Given the description of an element on the screen output the (x, y) to click on. 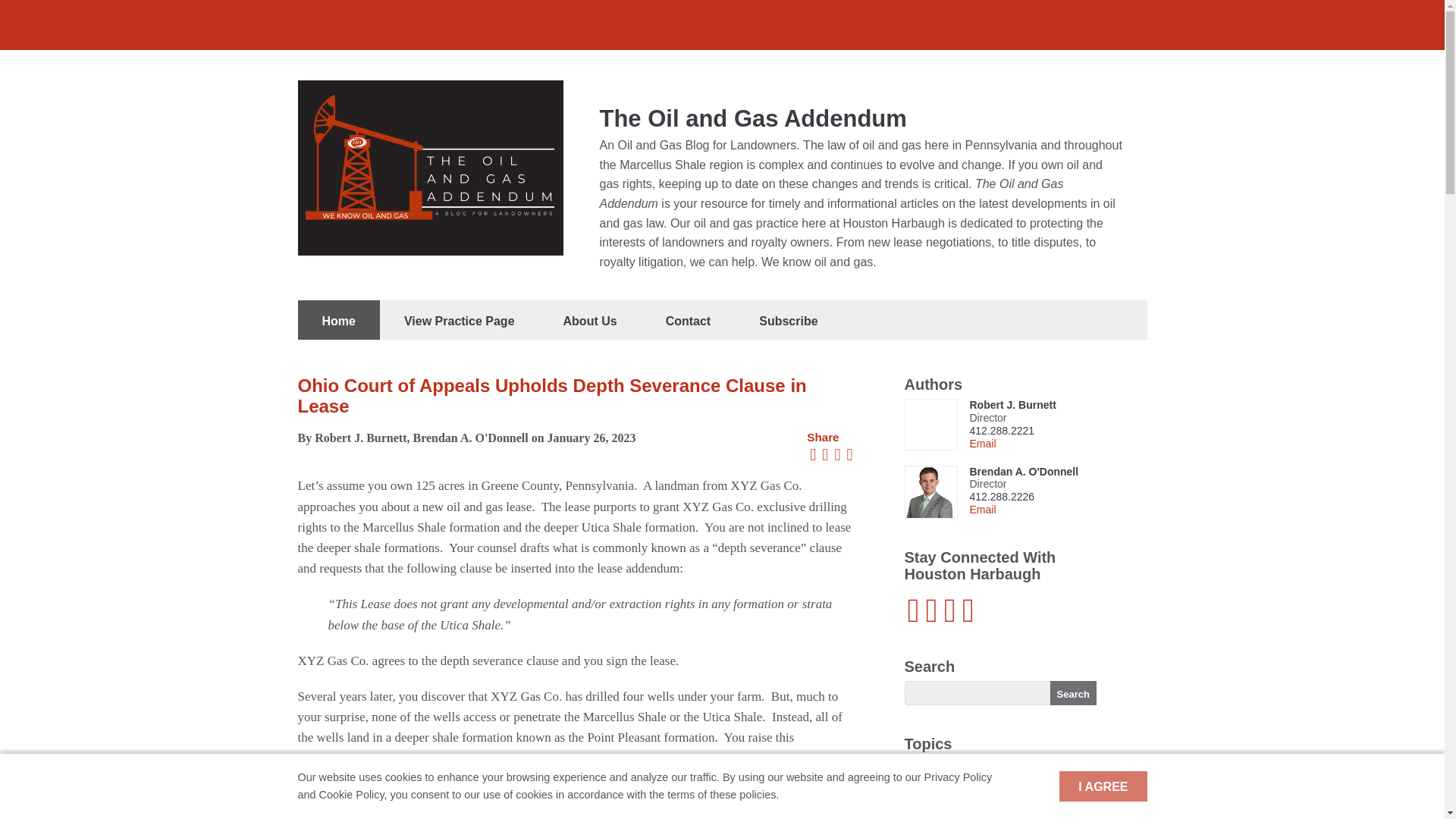
412.288.2226 (1001, 496)
Email (982, 509)
About Us (590, 319)
Home (337, 319)
Brendan A. O'Donnell (1023, 471)
Contact (688, 319)
View Practice Page (459, 319)
Email (982, 443)
The Oil and Gas Addendum (751, 118)
Robert J. Burnett (1012, 404)
Subscribe (788, 319)
412.288.2221 (1001, 430)
